Given the description of an element on the screen output the (x, y) to click on. 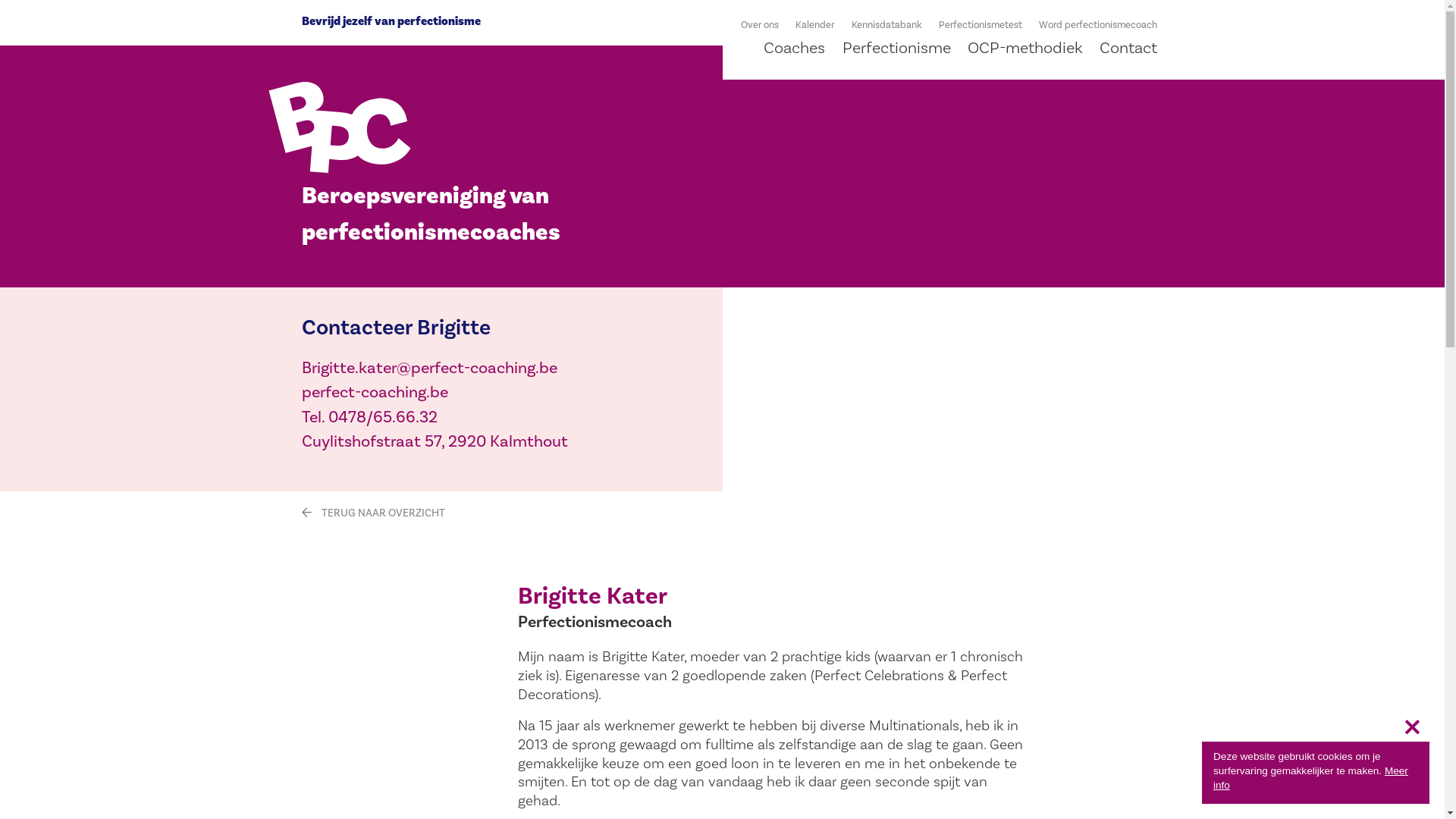
Bevrijd jezelf van perfectionisme Element type: text (390, 18)
OCP-methodiek Element type: text (1025, 48)
Perfectionisme Element type: text (895, 48)
perfect-coaching.be Element type: text (374, 392)
Kennisdatabank Element type: text (885, 25)
Contact Element type: text (1128, 48)
Over ons Element type: text (759, 25)
Kalender Element type: text (814, 25)
Perfectionismetest Element type: text (980, 25)
Overslaan en naar de inhoud gaan Element type: text (721, 1)
Cuylitshofstraat 57, 2920 Kalmthout Element type: text (434, 441)
Coaches Element type: text (794, 48)
Word perfectionismecoach Element type: text (1097, 25)
Brigitte.kater@perfect-coaching.be Element type: text (429, 367)
TERUG NAAR OVERZICHT Element type: text (373, 512)
Meer info Element type: text (1310, 777)
